Given the description of an element on the screen output the (x, y) to click on. 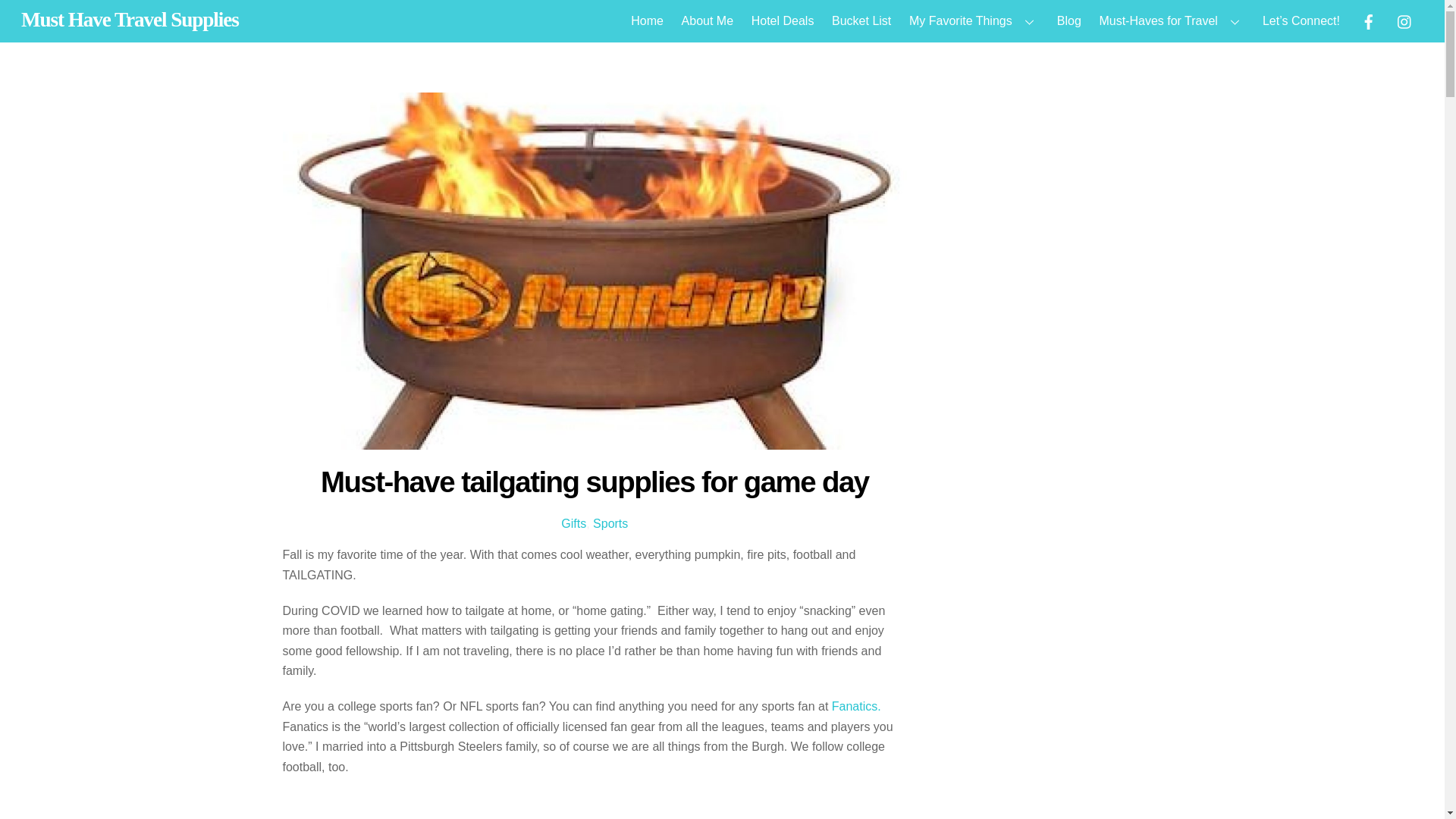
Must-Haves for Travel (1172, 21)
Must Have Travel Supplies (129, 19)
My Favorite Things (973, 21)
Must Have Travel Supplies (129, 19)
Home (647, 21)
Hotel Deals (782, 21)
About Me (707, 21)
Fanatics. (855, 706)
Bucket List (861, 21)
Sports (609, 522)
